Given the description of an element on the screen output the (x, y) to click on. 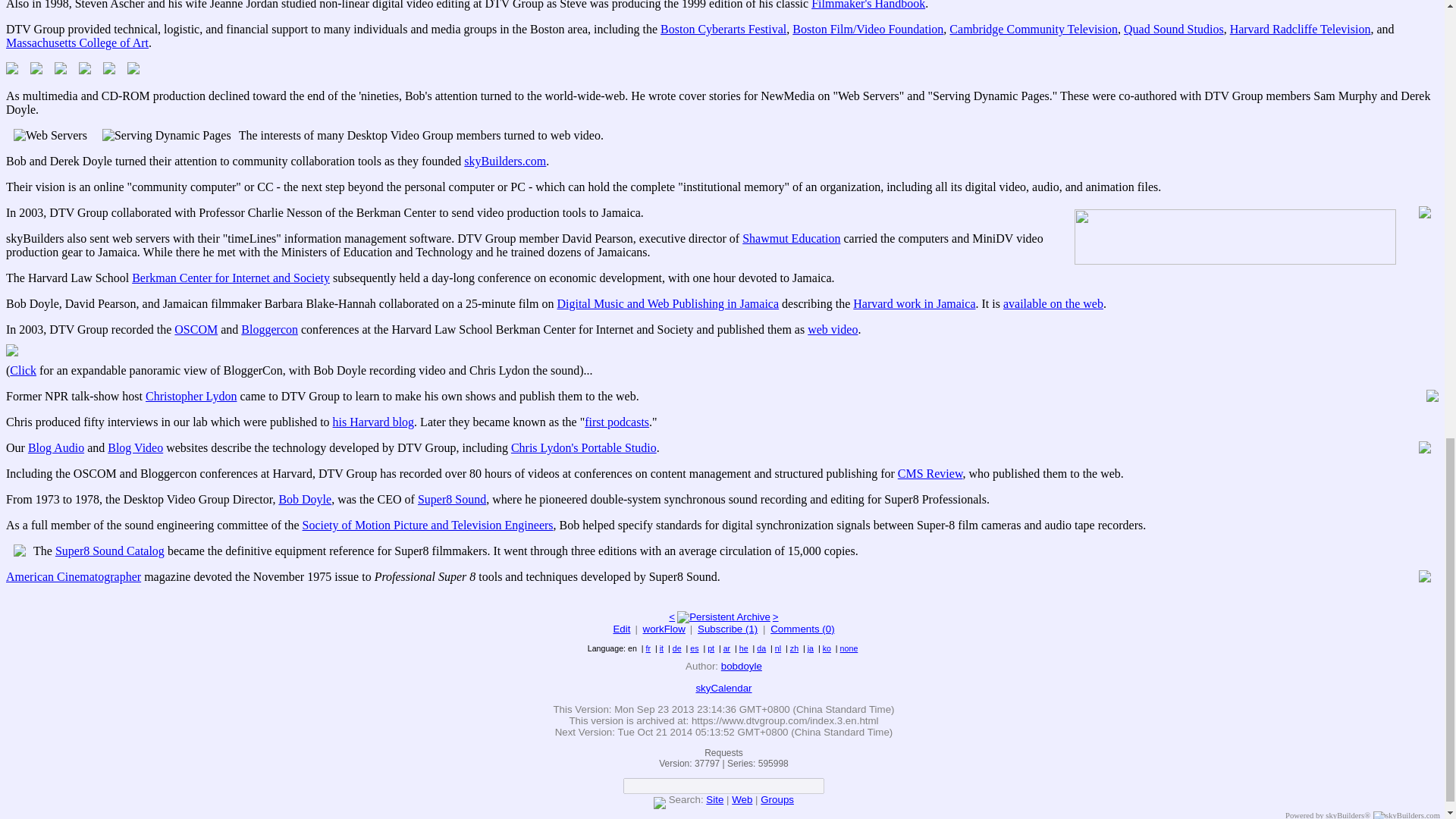
Harvard Radcliffe Television (1300, 29)
Filmmaker's Handbook (867, 4)
Use the language code set in your browser. (849, 647)
Berkman Center for Internet and Society (231, 277)
Digital Music and Web Publishing in Jamaica (667, 303)
skyBuilders.com (505, 160)
Boston Cyberarts Festival (723, 29)
Cambridge Community Television (1033, 29)
Shawmut Education (791, 237)
Quad Sound Studios (1174, 29)
available on the web (1053, 303)
Bloggercon (269, 328)
Massachusetts College of Art (76, 42)
OSCOM (195, 328)
web video (832, 328)
